Given the description of an element on the screen output the (x, y) to click on. 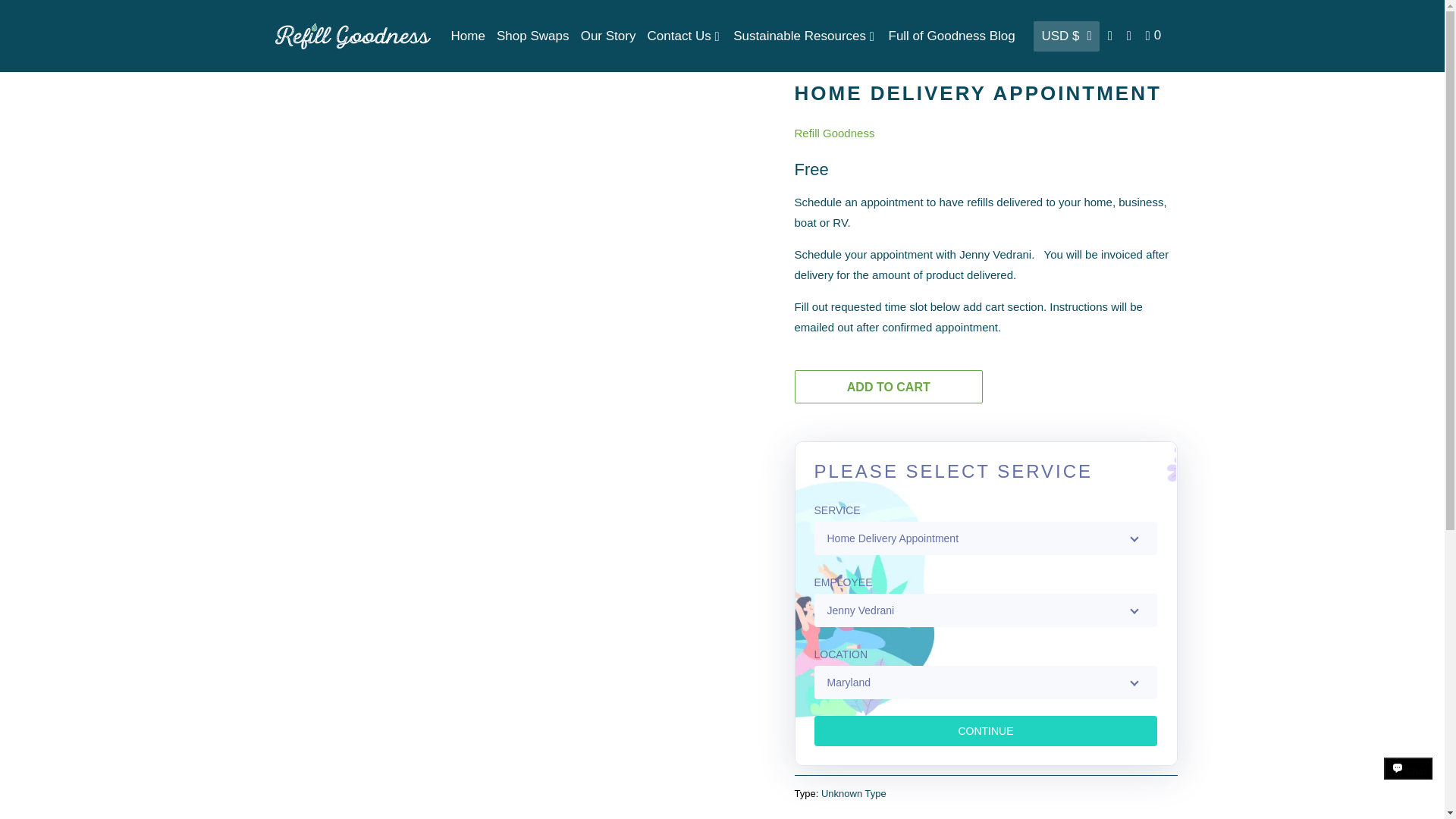
Next (341, 25)
Refill Goodness (352, 36)
Sustainable Resources (804, 35)
Previous (296, 25)
Shopify online store chat (1408, 781)
Shop Maryland (348, 51)
Full of Goodness Blog (951, 35)
Contact Us (685, 35)
Shop Swaps (532, 35)
Previous (296, 25)
